Given the description of an element on the screen output the (x, y) to click on. 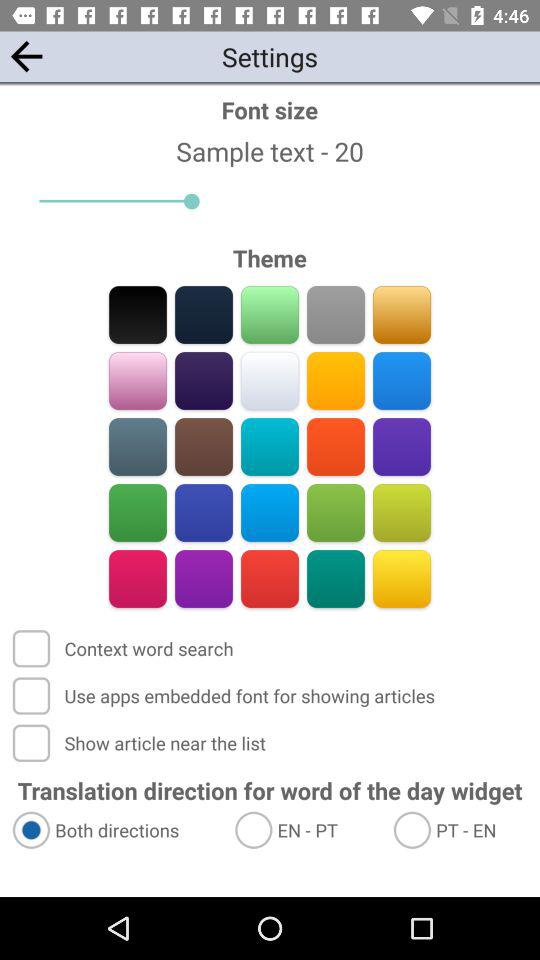
choose general color theme for app (401, 380)
